Given the description of an element on the screen output the (x, y) to click on. 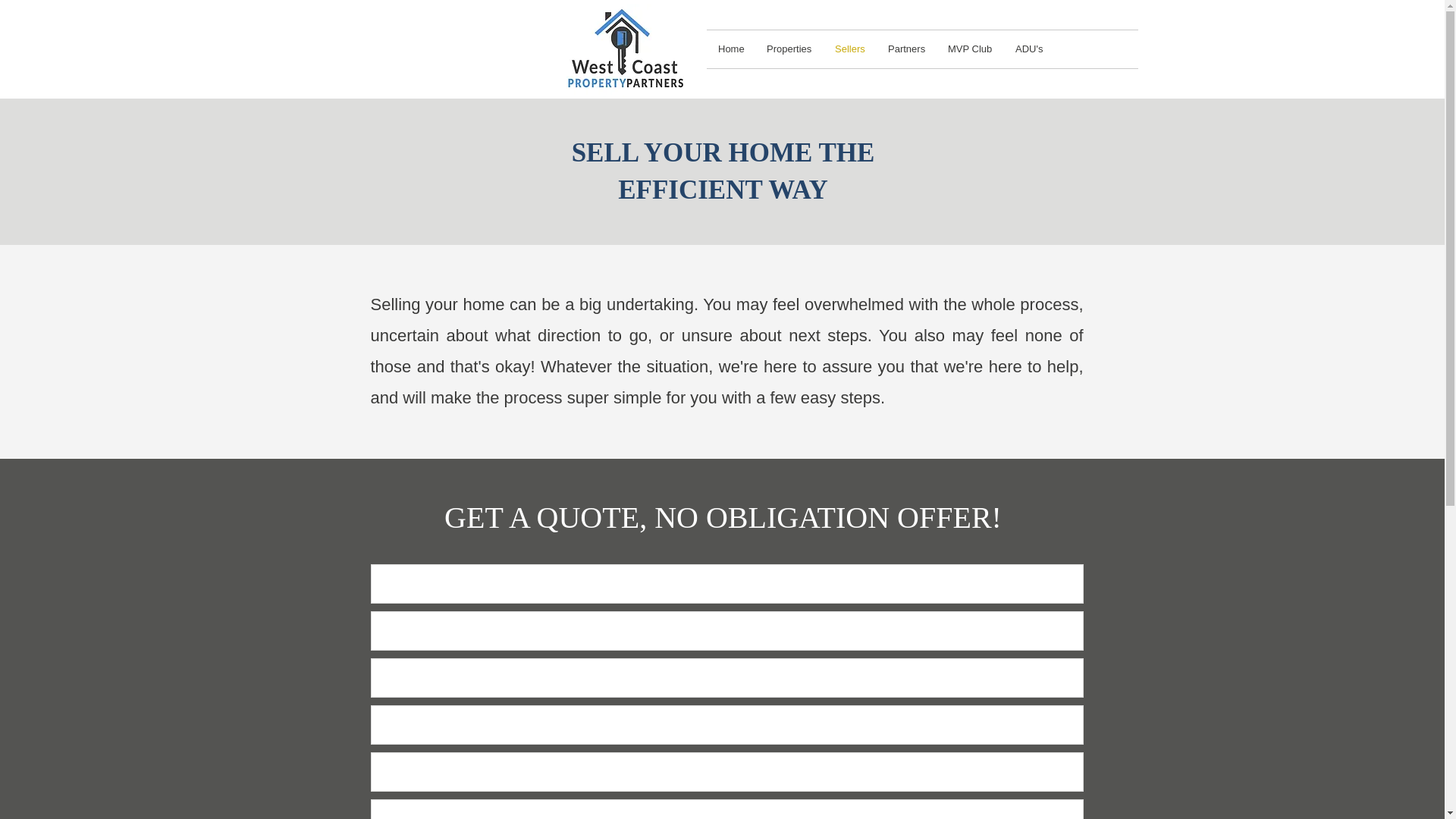
Sellers (850, 48)
ADU's (1029, 48)
Home (730, 48)
MVP Club (970, 48)
Partners (906, 48)
Properties (789, 48)
